Given the description of an element on the screen output the (x, y) to click on. 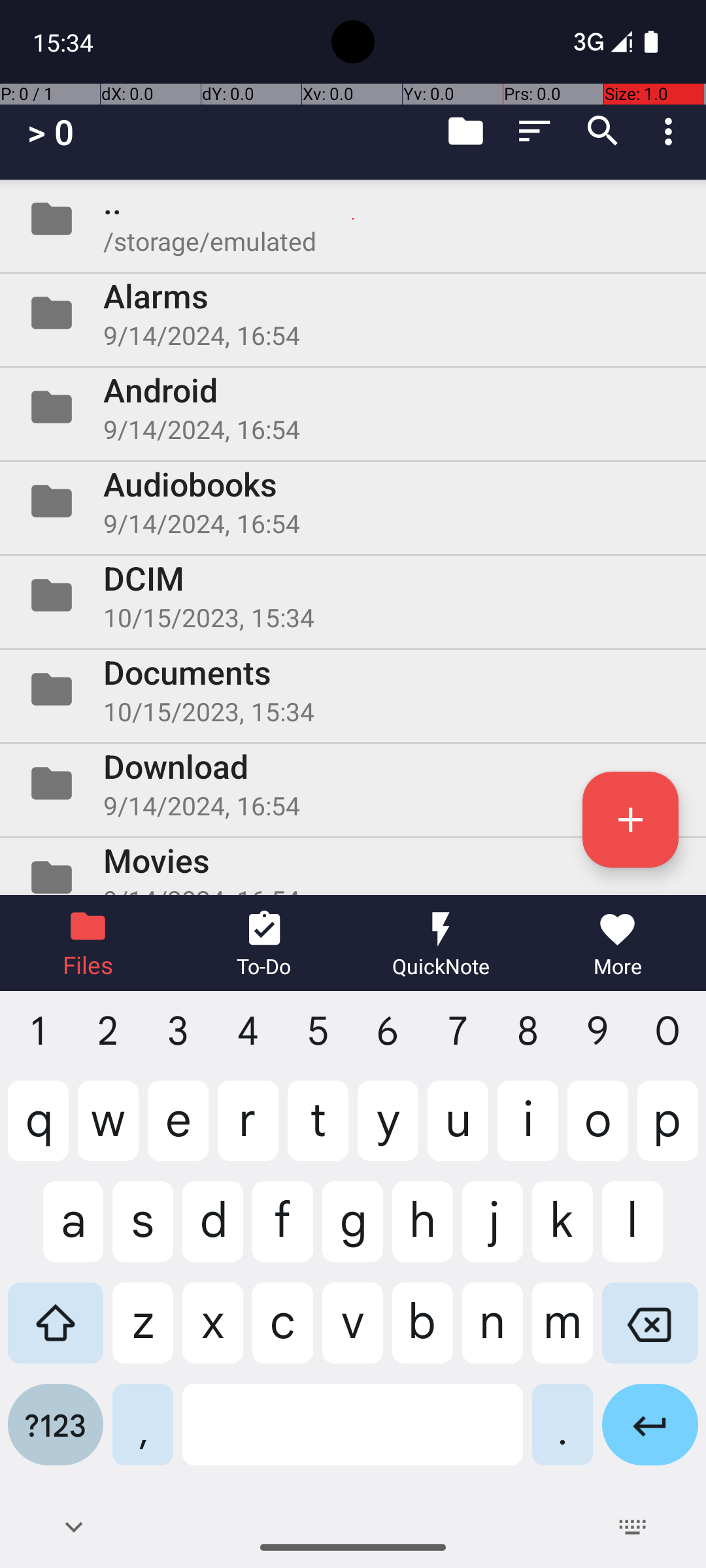
> 0 Element type: android.widget.TextView (50, 131)
Folder .. /storage/emulated/0 Element type: android.widget.LinearLayout (353, 218)
Folder Alarms 10/15/2023, 15:34 Element type: android.widget.LinearLayout (353, 312)
Folder Android  Element type: android.widget.LinearLayout (353, 406)
Folder Audiobooks  Element type: android.widget.LinearLayout (353, 500)
Folder DCIM  Element type: android.widget.LinearLayout (353, 594)
Folder Documents  Element type: android.widget.LinearLayout (353, 689)
Folder Download  Element type: android.widget.LinearLayout (353, 783)
Folder Movies  Element type: android.widget.LinearLayout (353, 866)
